Given the description of an element on the screen output the (x, y) to click on. 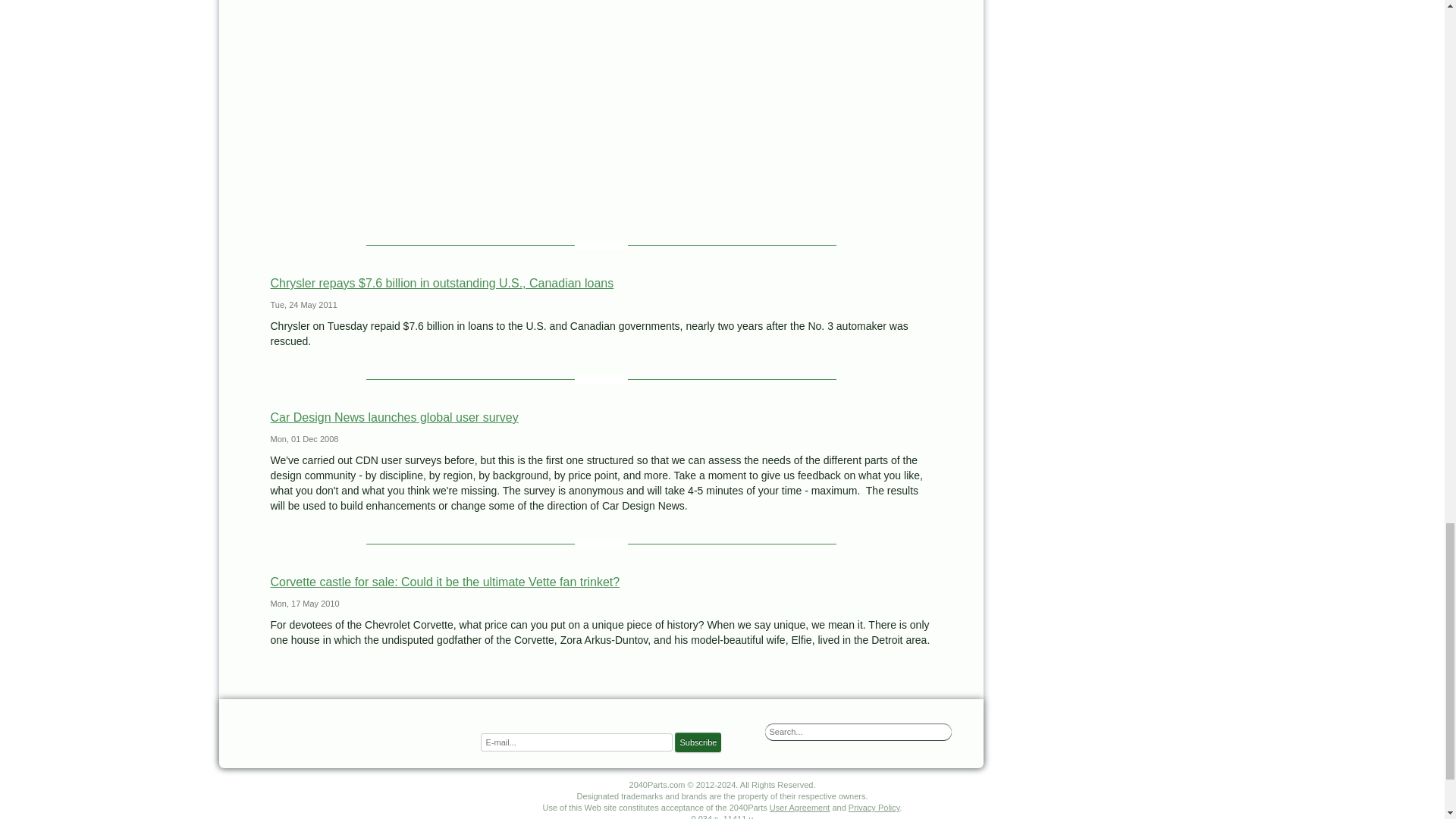
Cars (350, 731)
Privacy Policy (873, 807)
Car Design News launches global user survey (393, 417)
Subscribe (697, 742)
Subscribe (697, 742)
User Agreement (799, 807)
